Given the description of an element on the screen output the (x, y) to click on. 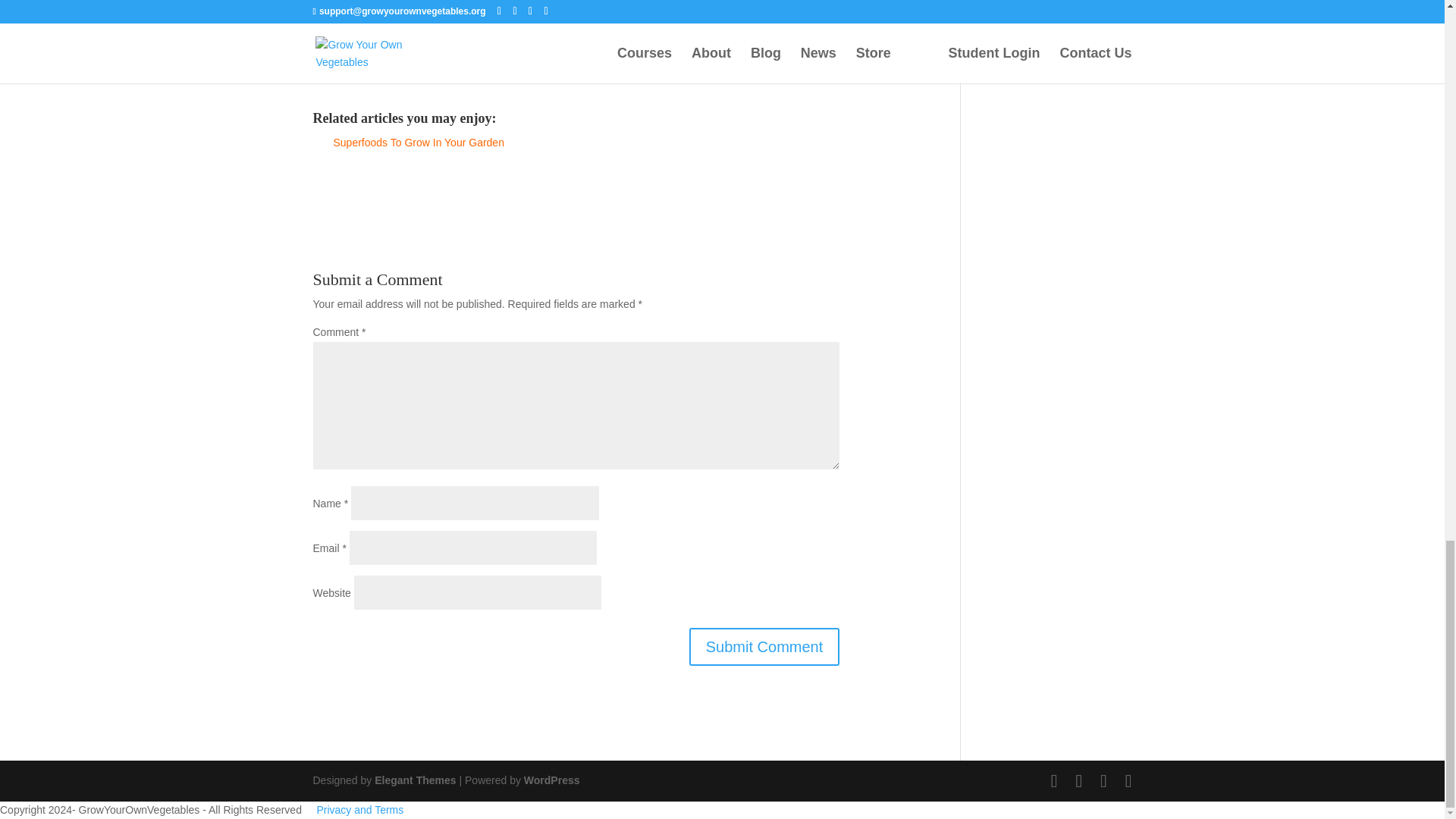
Submit Comment (764, 646)
Submit Comment (764, 646)
Superfoods To Grow In Your Garden (418, 142)
Superfood Gardening Opt In 3D (576, 48)
Premium WordPress Themes (414, 779)
